Given the description of an element on the screen output the (x, y) to click on. 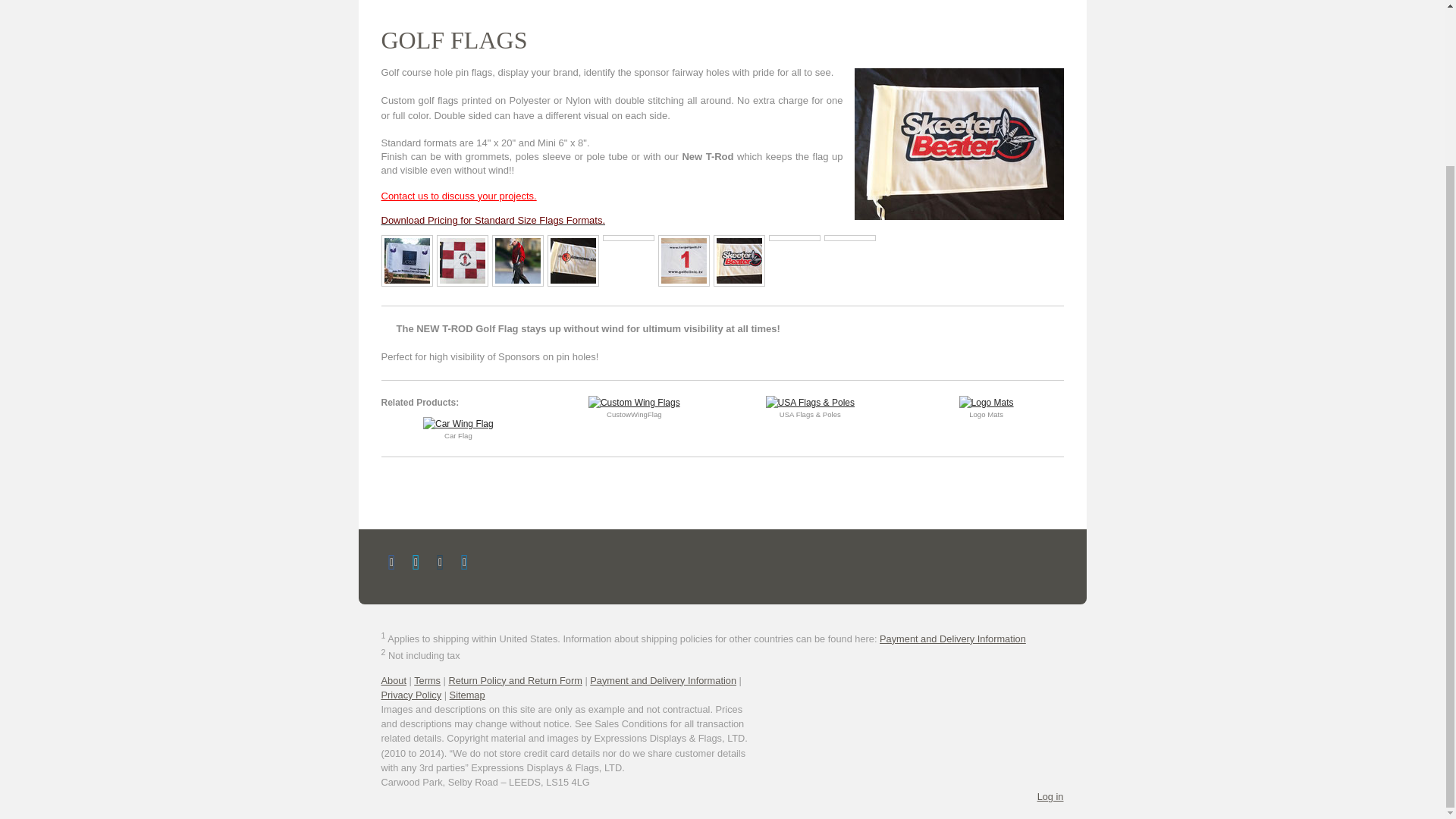
Contact us to discuss your projects. (457, 195)
Return Policy and Return Form (514, 680)
Payment and Delivery Information (952, 638)
Facebook (390, 562)
LinkedIn (463, 562)
Twitter (415, 562)
Download Pricing for Standard Size Flags Formats. (492, 220)
Terms (427, 680)
About (393, 680)
Email (439, 562)
